Given the description of an element on the screen output the (x, y) to click on. 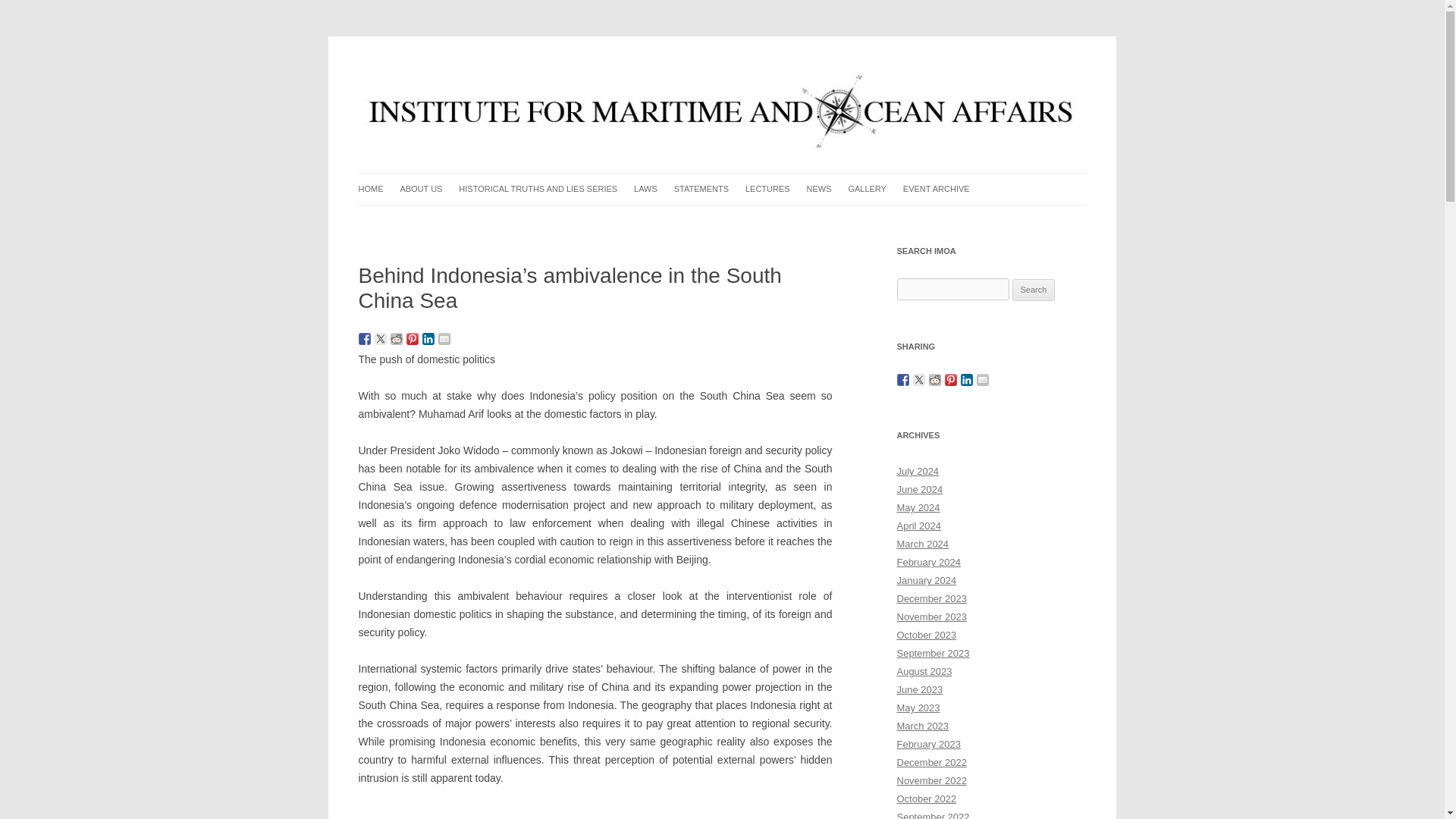
RELEVANT PHILIPPINE LAWS (709, 219)
Institute for Maritime and Ocean Affairs (542, 72)
Share on Reddit (395, 338)
Share on Linkedin (427, 338)
Share on Twitter (380, 338)
Skip to content (757, 177)
ABOUT US (420, 188)
HISTORICAL TRUTHS AND LIES SERIES (537, 188)
Pin it with Pinterest (412, 338)
Institute for Maritime and Ocean Affairs (542, 72)
